Given the description of an element on the screen output the (x, y) to click on. 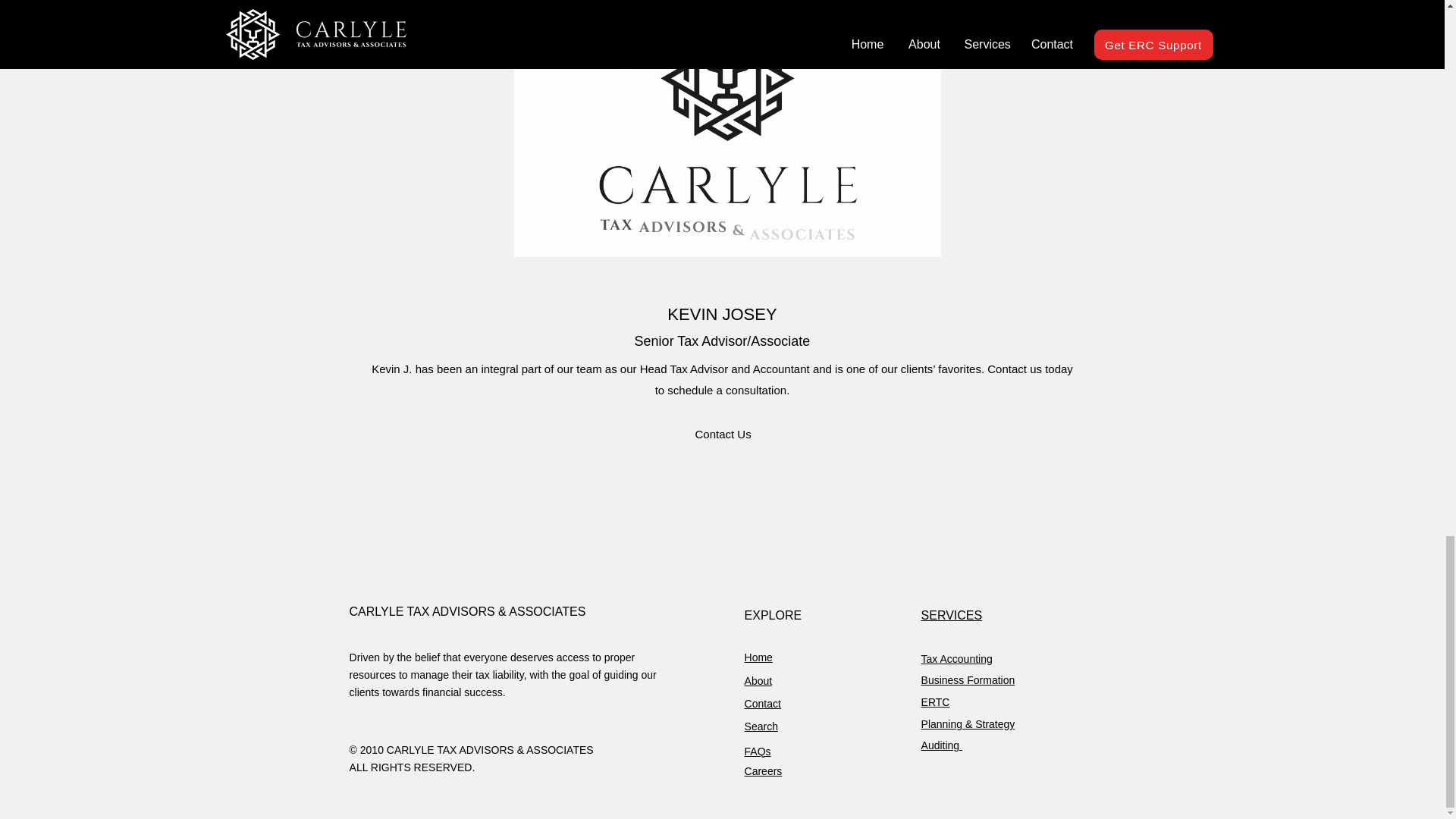
ERTC (935, 702)
Contact (762, 703)
SERVICES (951, 615)
About (758, 680)
Business Formation (967, 680)
Careers (763, 770)
Tax Accounting (956, 658)
FAQs (757, 751)
Home (758, 657)
